Given the description of an element on the screen output the (x, y) to click on. 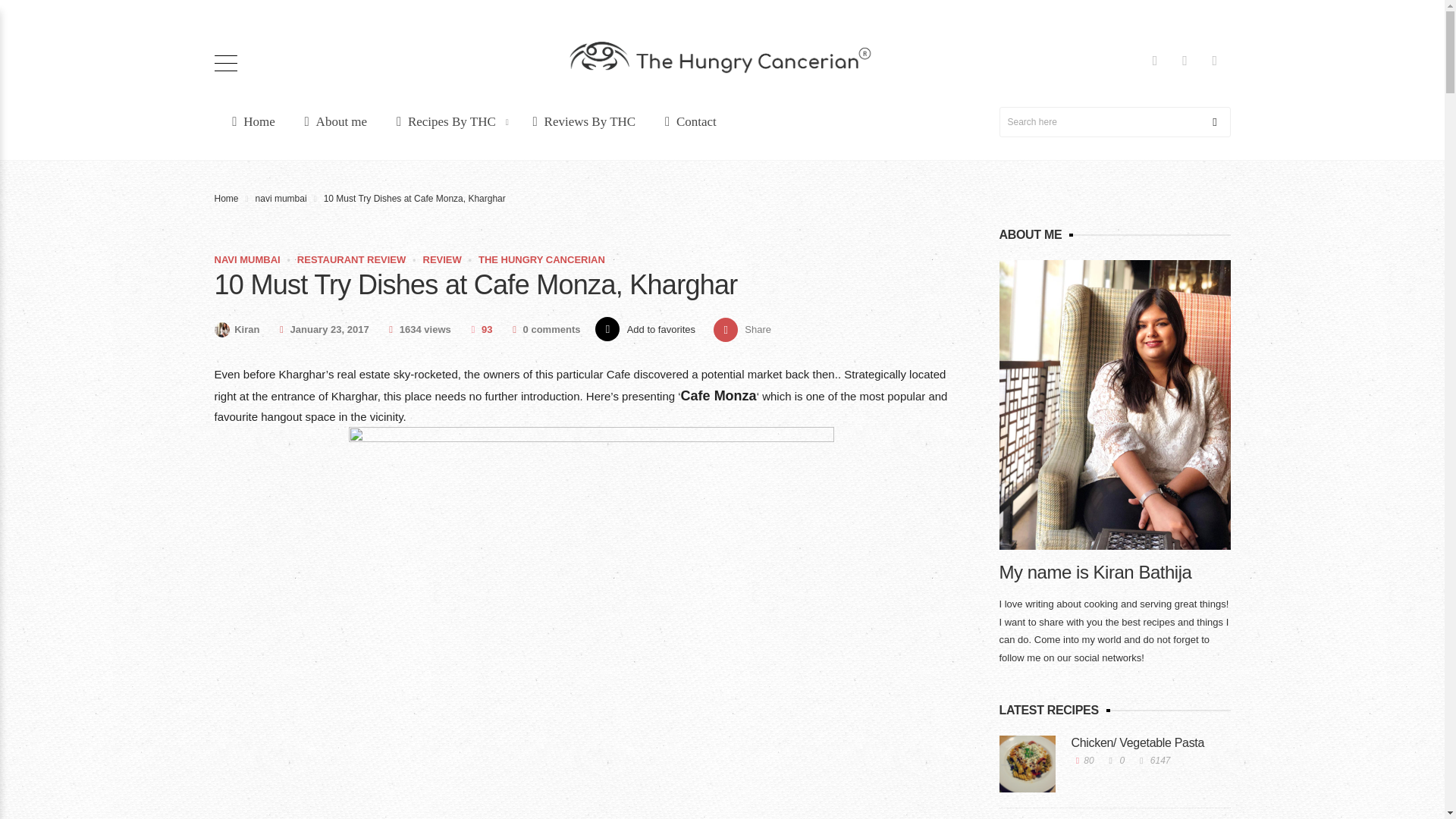
Search here (1114, 122)
REVIEW (442, 259)
Like this (479, 328)
Recipes By THC (446, 121)
93 (479, 328)
navi mumbai (281, 198)
Contact (687, 121)
Kiran (742, 328)
Reviews By THC (236, 328)
Home (580, 121)
Home (249, 121)
Share (226, 198)
Search (742, 328)
THE HUNGRY CANCERIAN (1198, 117)
